Given the description of an element on the screen output the (x, y) to click on. 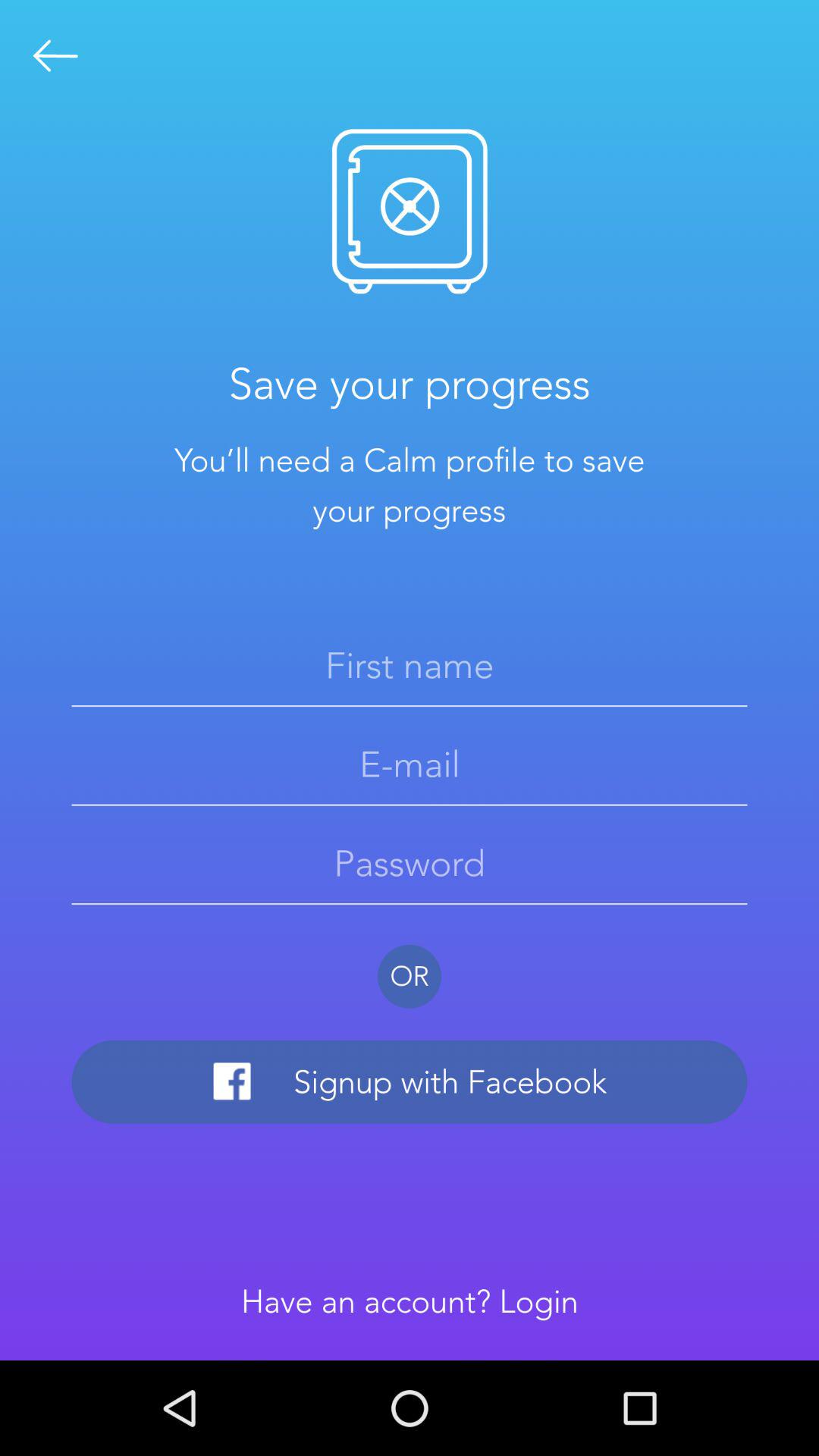
area to input first name (409, 664)
